Given the description of an element on the screen output the (x, y) to click on. 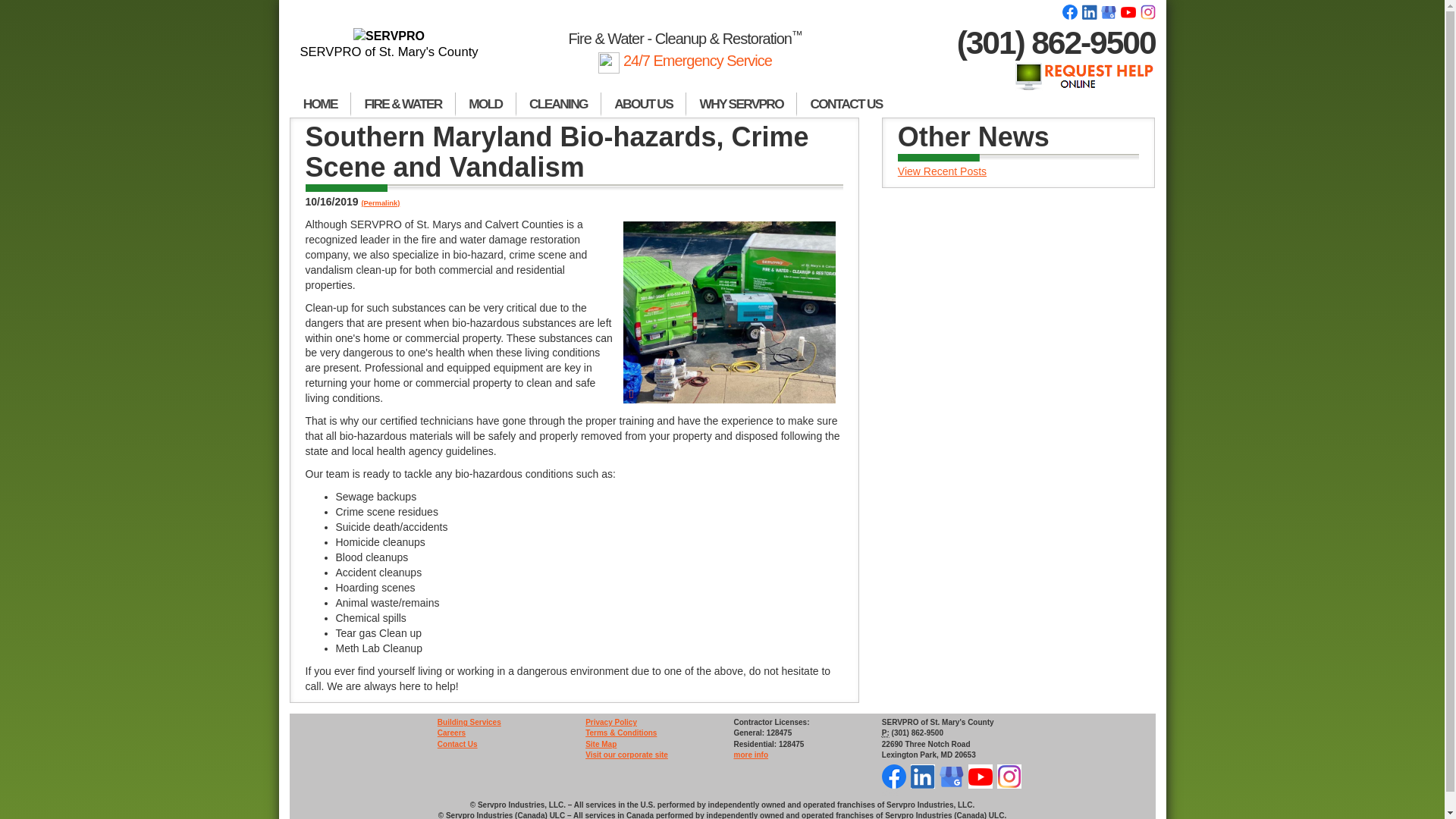
ABOUT US (643, 104)
MOLD (485, 104)
HOME (319, 104)
CLEANING (558, 104)
SERVPRO of St. Mary's County (389, 44)
